Given the description of an element on the screen output the (x, y) to click on. 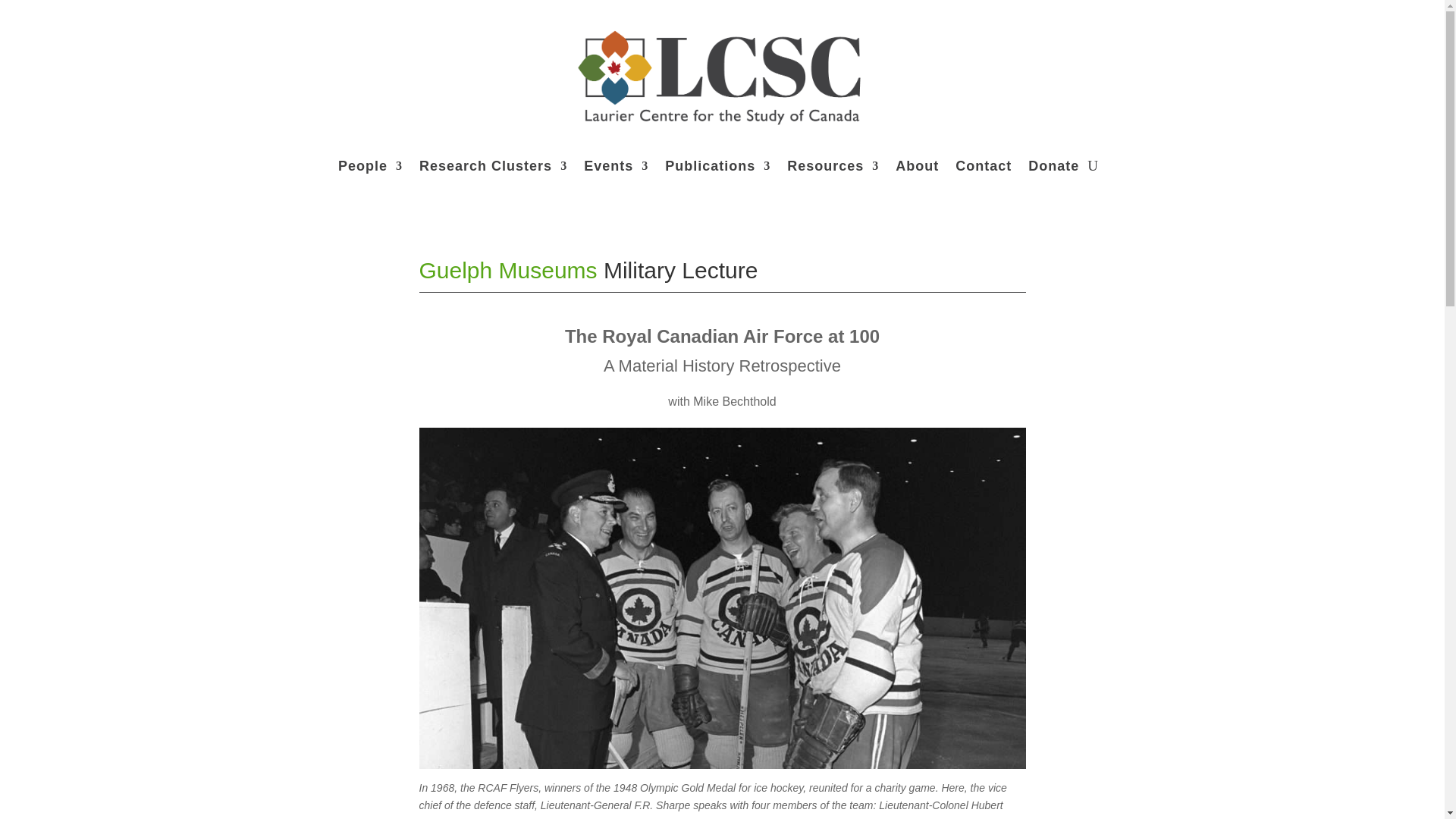
People (370, 165)
Contact (983, 165)
Research Clusters (493, 165)
Events (615, 165)
Resources (833, 165)
Publications (717, 165)
